Given the description of an element on the screen output the (x, y) to click on. 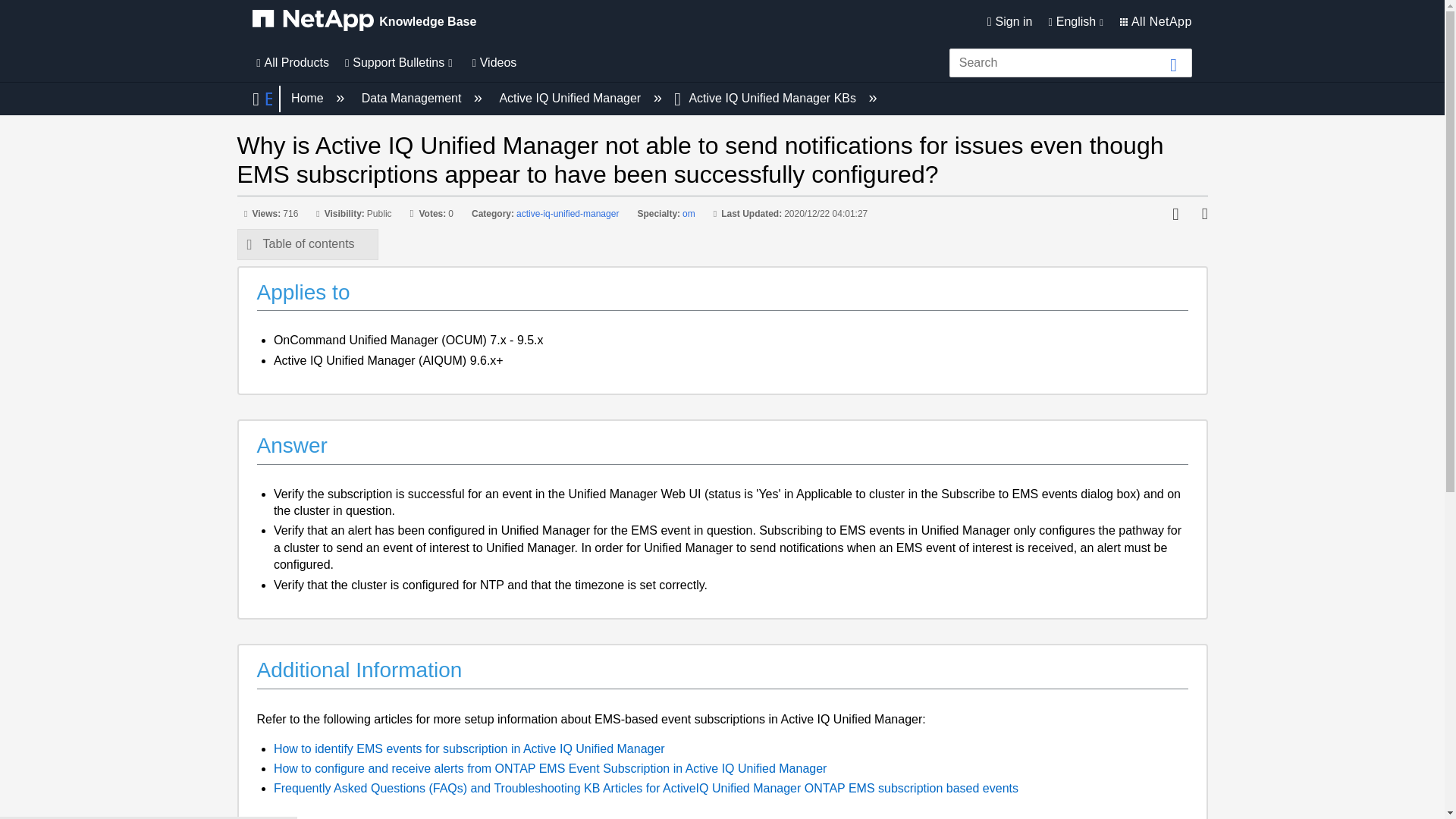
Videos (491, 62)
Search (1173, 63)
Save as PDF (1180, 215)
NetApp Knowledge base (312, 20)
Sign in (1008, 21)
Home (306, 97)
English (1074, 21)
Share (1199, 215)
Sign in (1008, 21)
Knowledge Base (363, 21)
All NetApp (1155, 21)
Data Management (410, 97)
Support Bulletins (398, 62)
Active IQ Unified Manager KBs (766, 97)
All Products (290, 62)
